Given the description of an element on the screen output the (x, y) to click on. 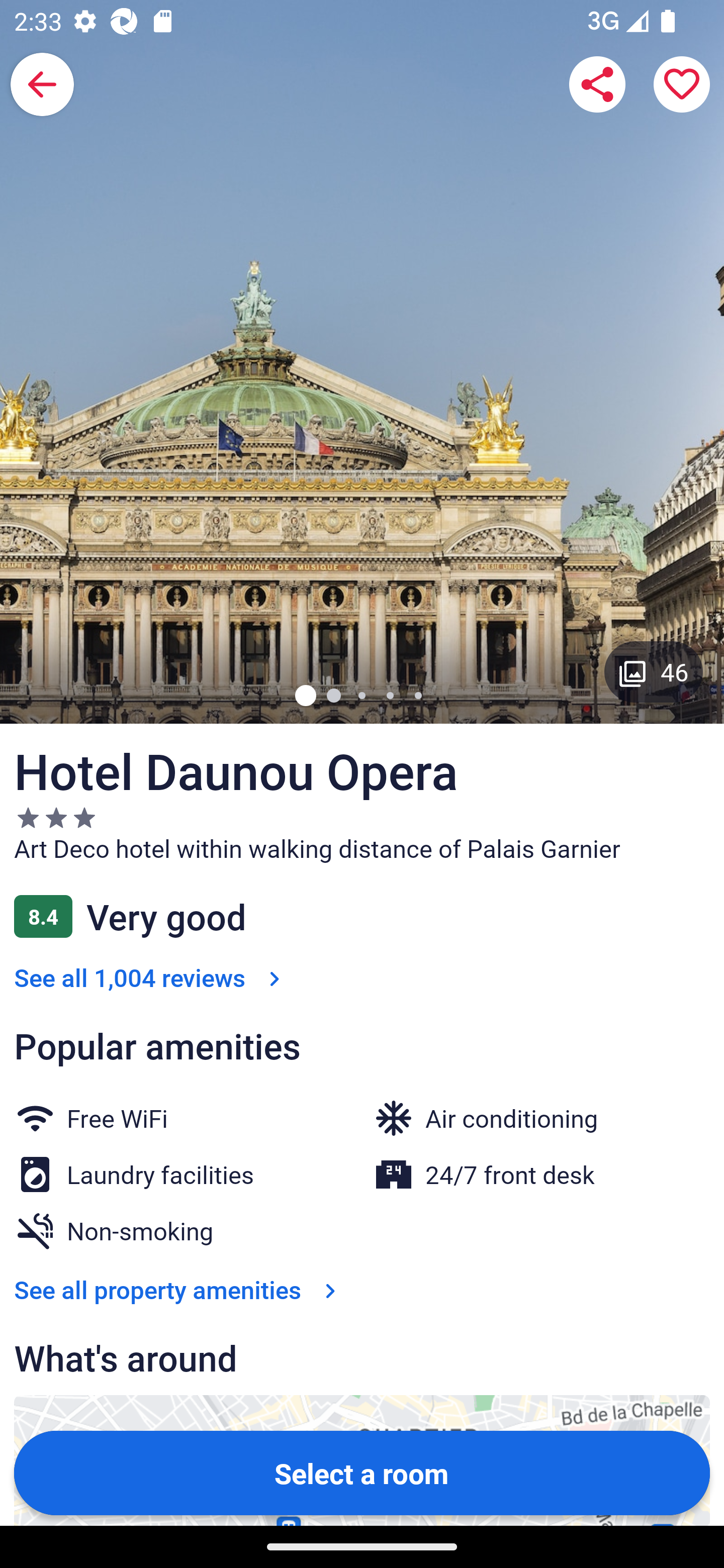
Back (42, 84)
Save property to a trip (681, 84)
Share Hotel Daunou Opera (597, 84)
Gallery button with 46 images (653, 671)
See all 1,004 reviews See all 1,004 reviews Link (150, 976)
See all property amenities (178, 1289)
Select a room Button Select a room (361, 1472)
